Given the description of an element on the screen output the (x, y) to click on. 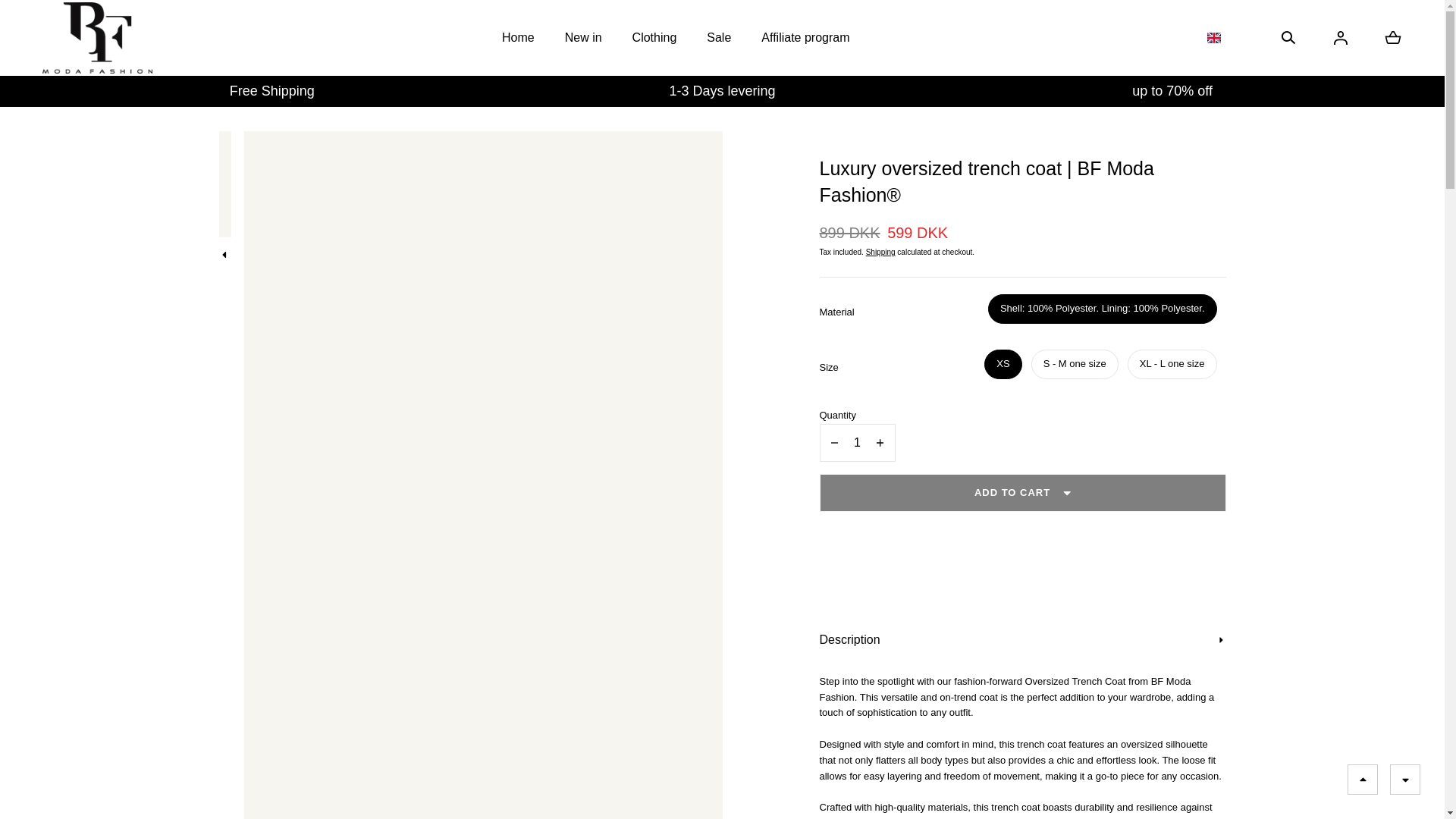
SKIP TO CONTENT (80, 18)
Affiliate program (804, 38)
1 (856, 442)
BF Moda Fashion (97, 38)
